Given the description of an element on the screen output the (x, y) to click on. 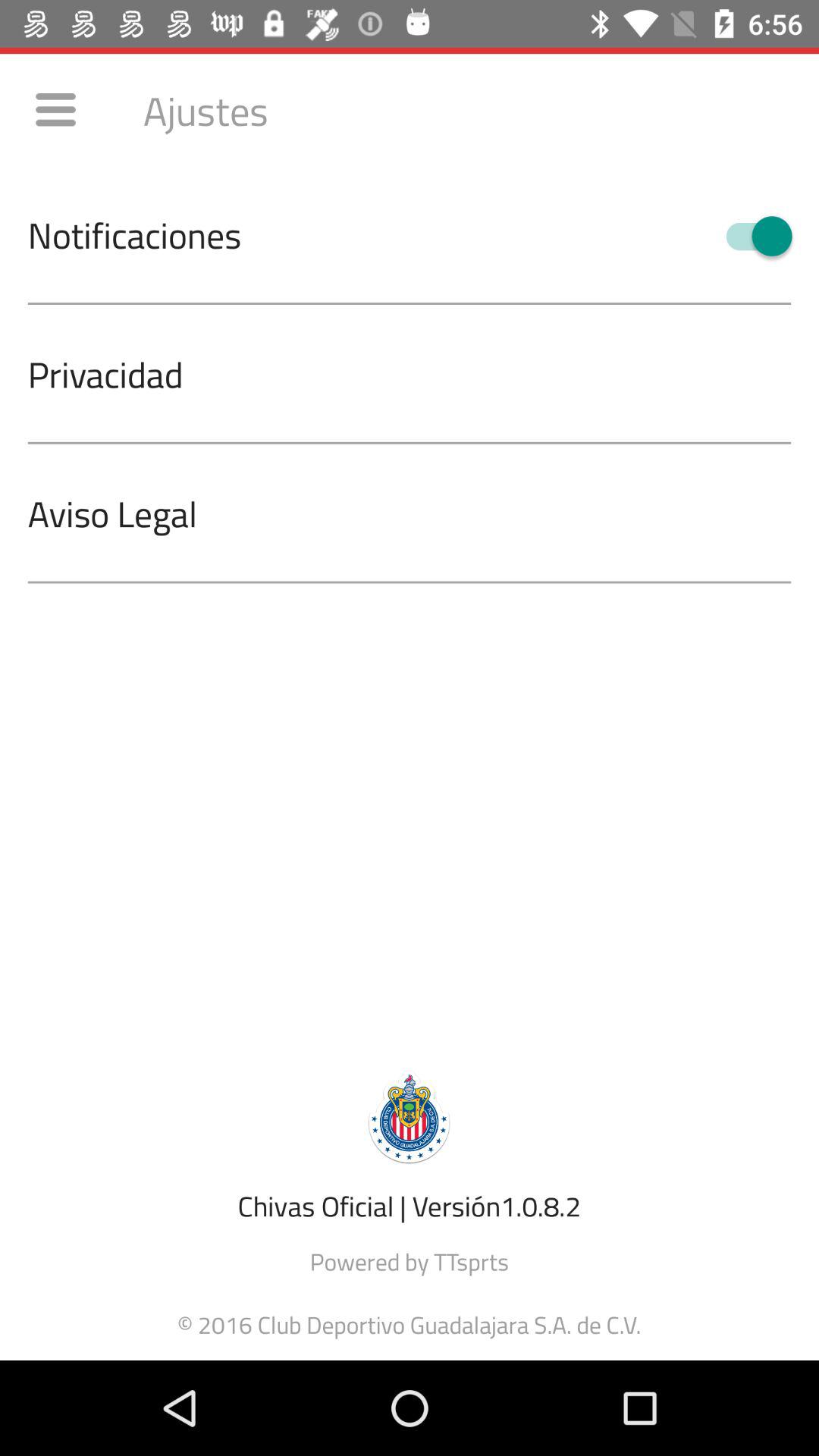
tap the item at the top right corner (751, 236)
